Given the description of an element on the screen output the (x, y) to click on. 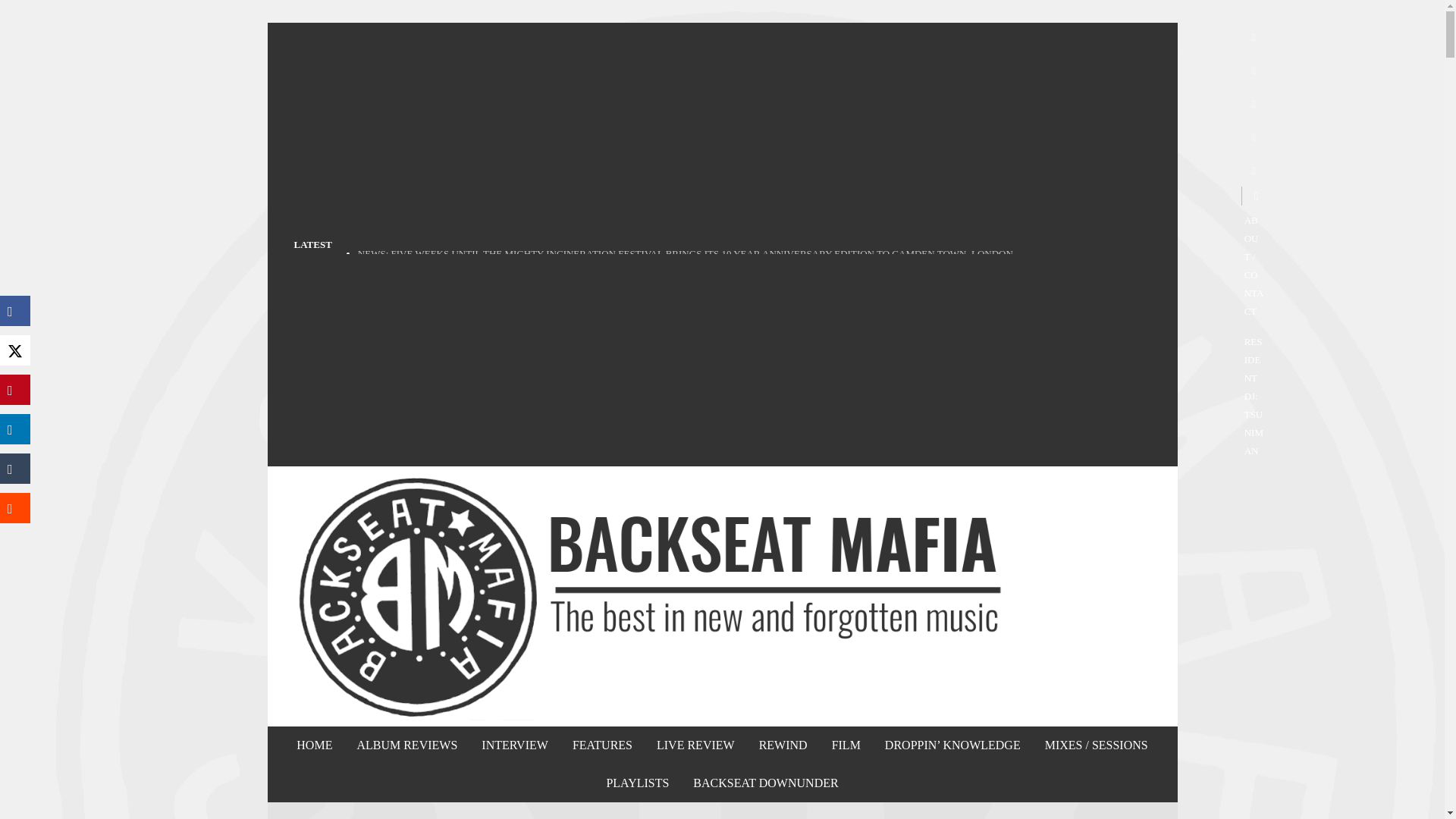
FILM (845, 745)
INTERVIEW (514, 745)
REWIND (782, 745)
PLAYLISTS (637, 783)
FEATURES (602, 745)
LIVE REVIEW (695, 745)
ALBUM REVIEWS (405, 745)
HOME (313, 745)
